Given the description of an element on the screen output the (x, y) to click on. 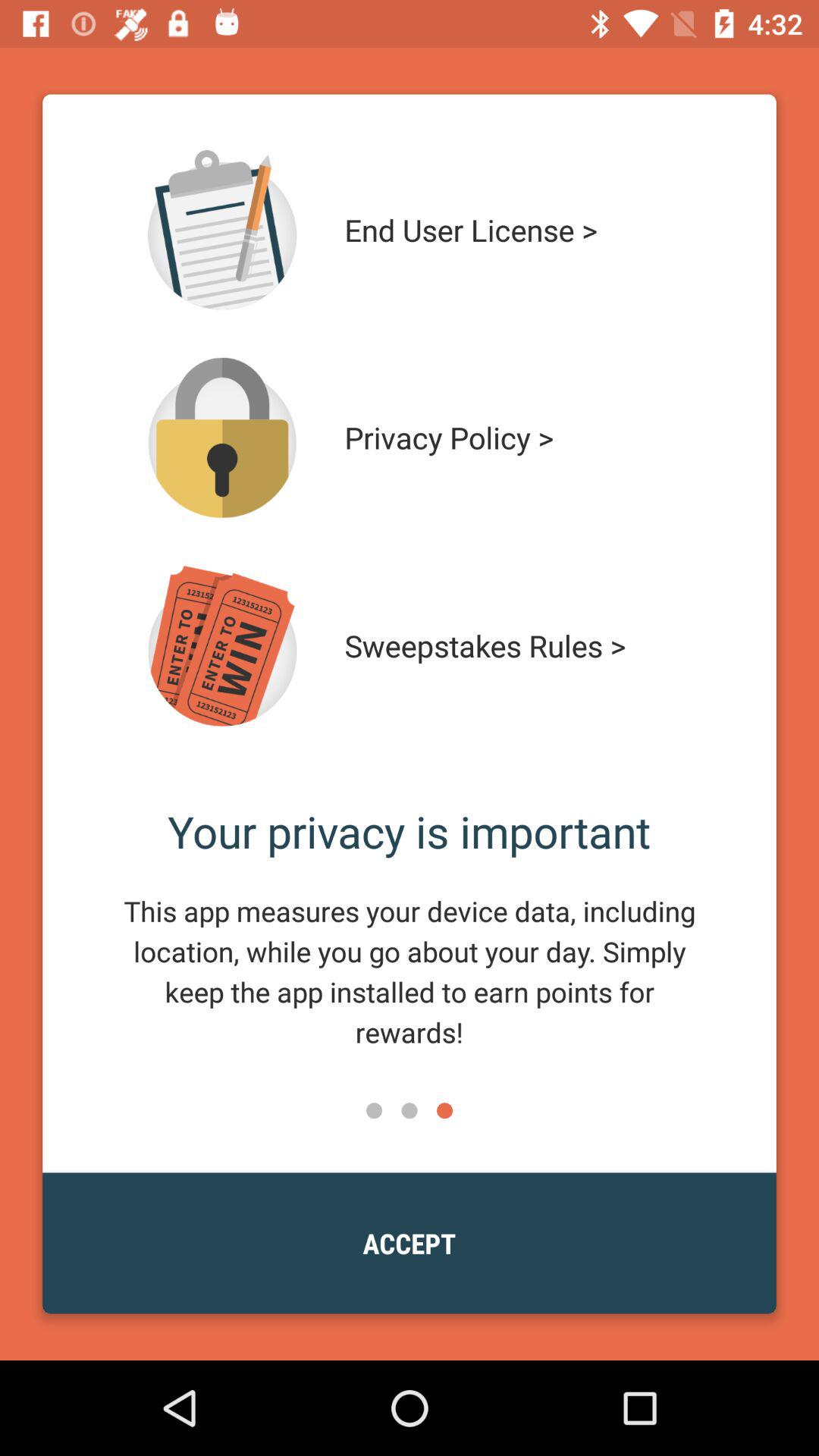
open rule sheet (222, 645)
